Given the description of an element on the screen output the (x, y) to click on. 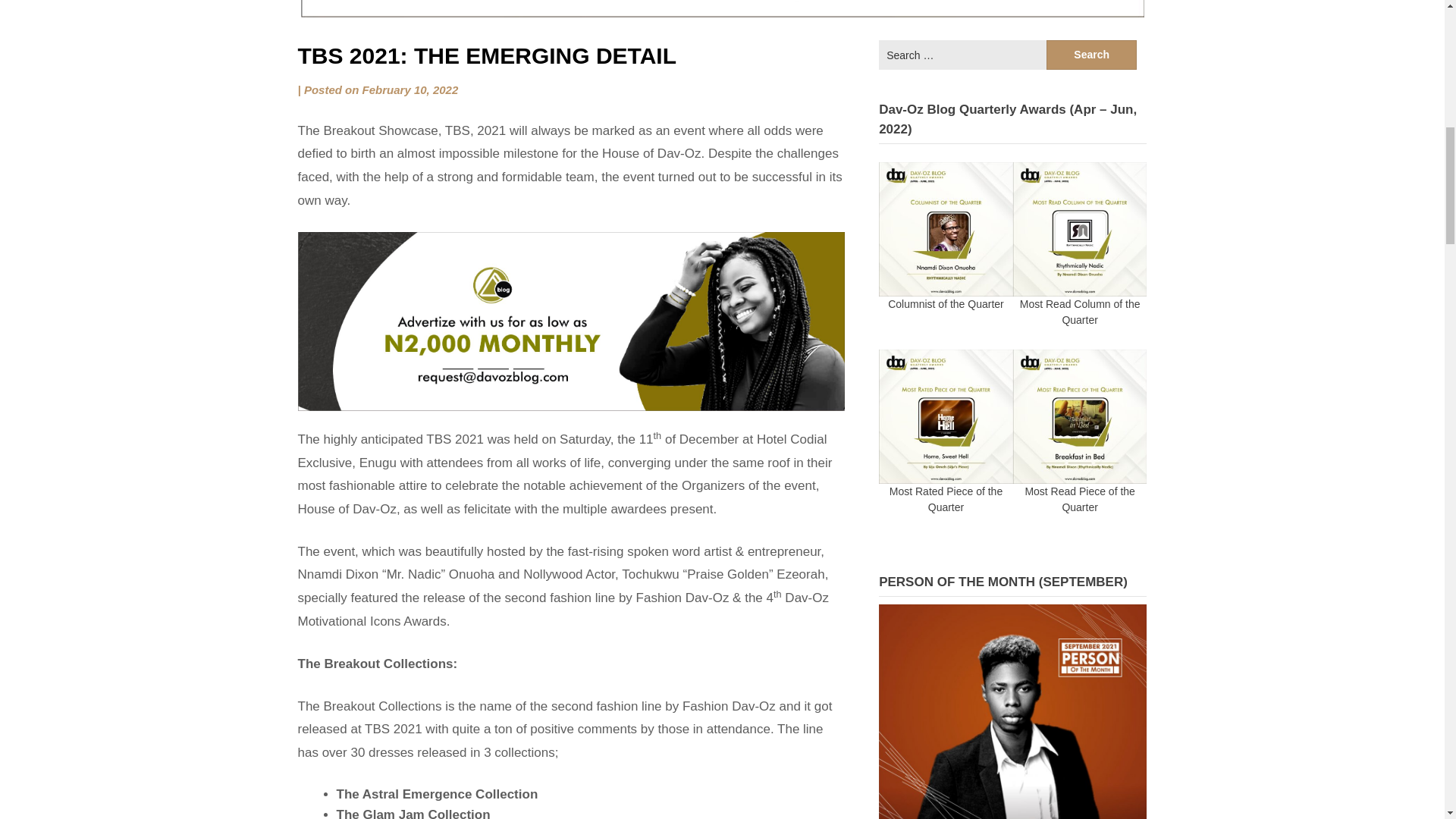
Search (1091, 54)
PERSON OF THE MONTH (1013, 711)
Search (1091, 54)
